Given the description of an element on the screen output the (x, y) to click on. 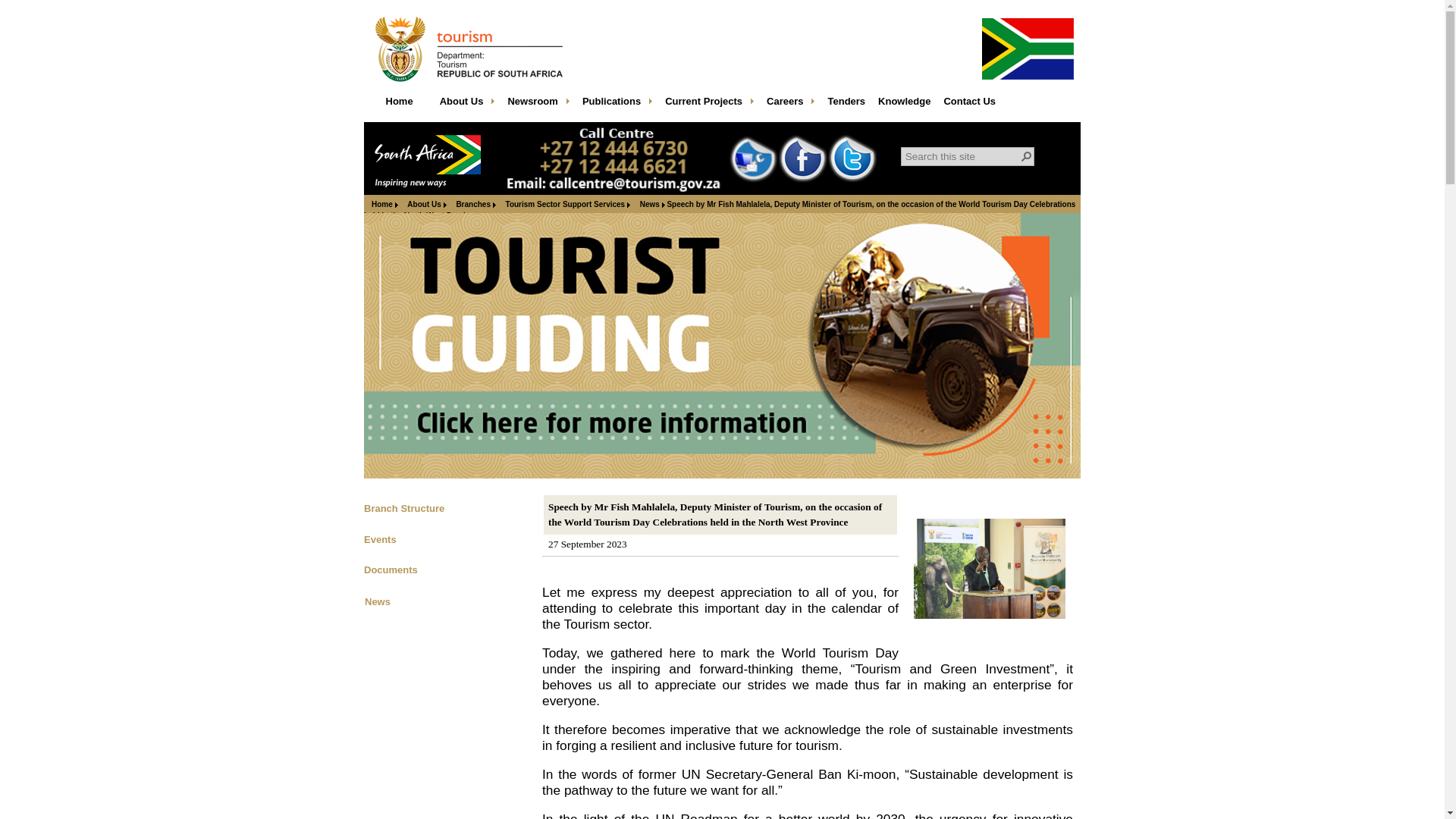
Home (398, 105)
Publications (617, 105)
Search this site (962, 156)
Newsroom (537, 105)
About NDT (467, 105)
News Room (537, 105)
Tourism Web Portal (398, 105)
Publications (617, 105)
Search this site (962, 156)
About Us (467, 105)
